Given the description of an element on the screen output the (x, y) to click on. 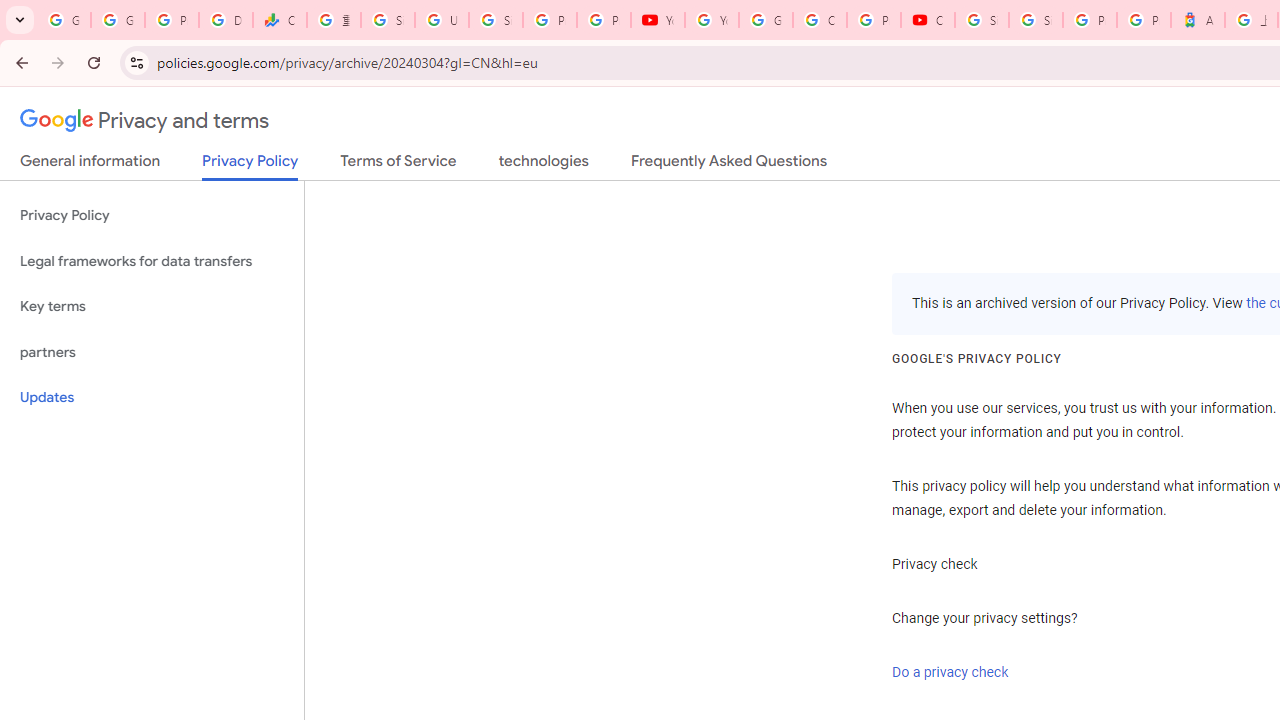
Sign in - Google Accounts (387, 20)
Key terms (152, 306)
Do a privacy check (950, 672)
Sign in - Google Accounts (981, 20)
YouTube (657, 20)
Frequently Asked Questions (727, 165)
Create your Google Account (819, 20)
technologies (542, 165)
